Given the description of an element on the screen output the (x, y) to click on. 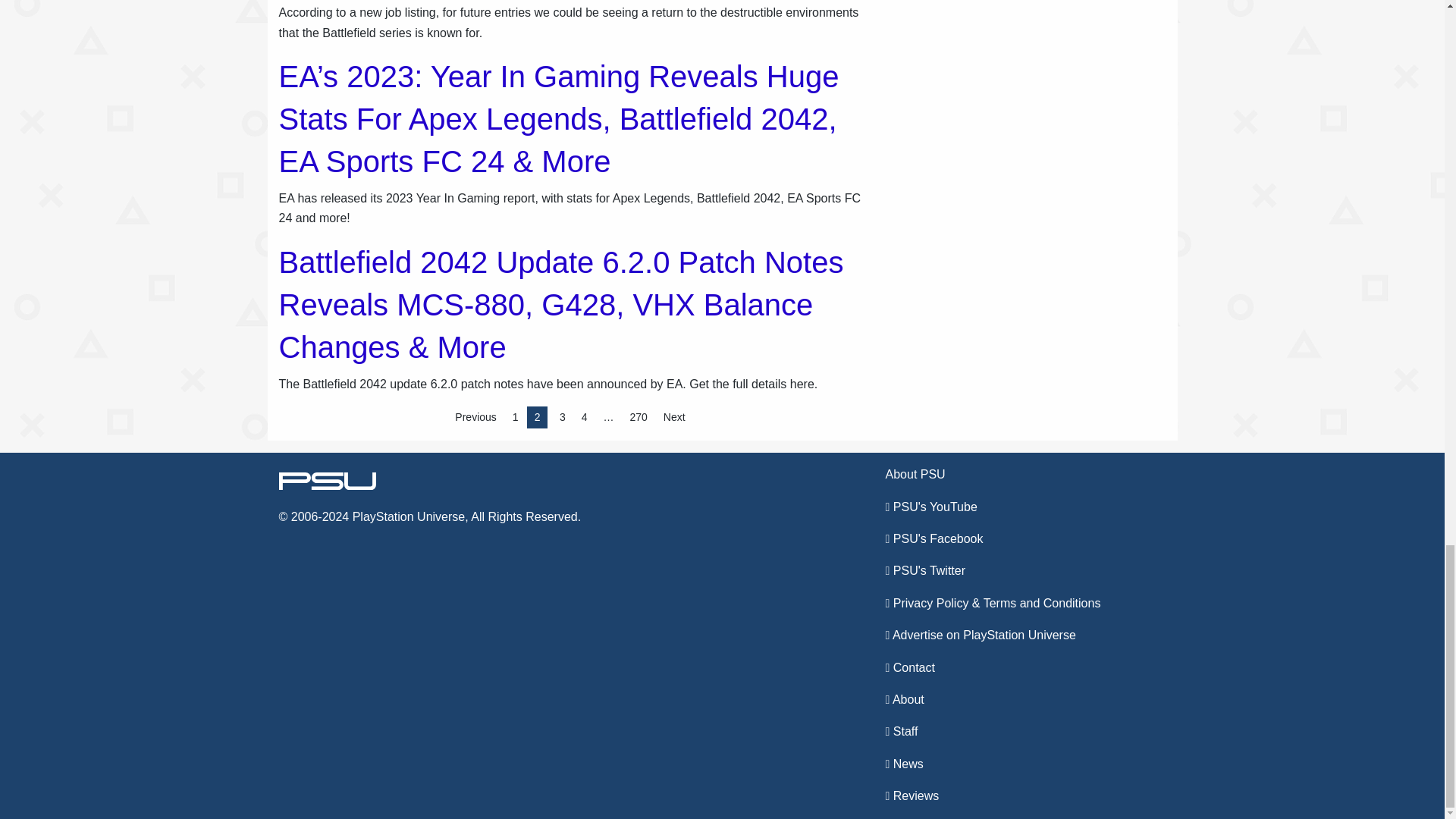
Page 3 (562, 417)
1 (515, 417)
4 (584, 417)
Previous (474, 417)
Last (637, 417)
3 (562, 417)
Next (674, 417)
Page 1 (515, 417)
Previous (474, 417)
270 (637, 417)
Page 4 (584, 417)
Next (674, 417)
